Given the description of an element on the screen output the (x, y) to click on. 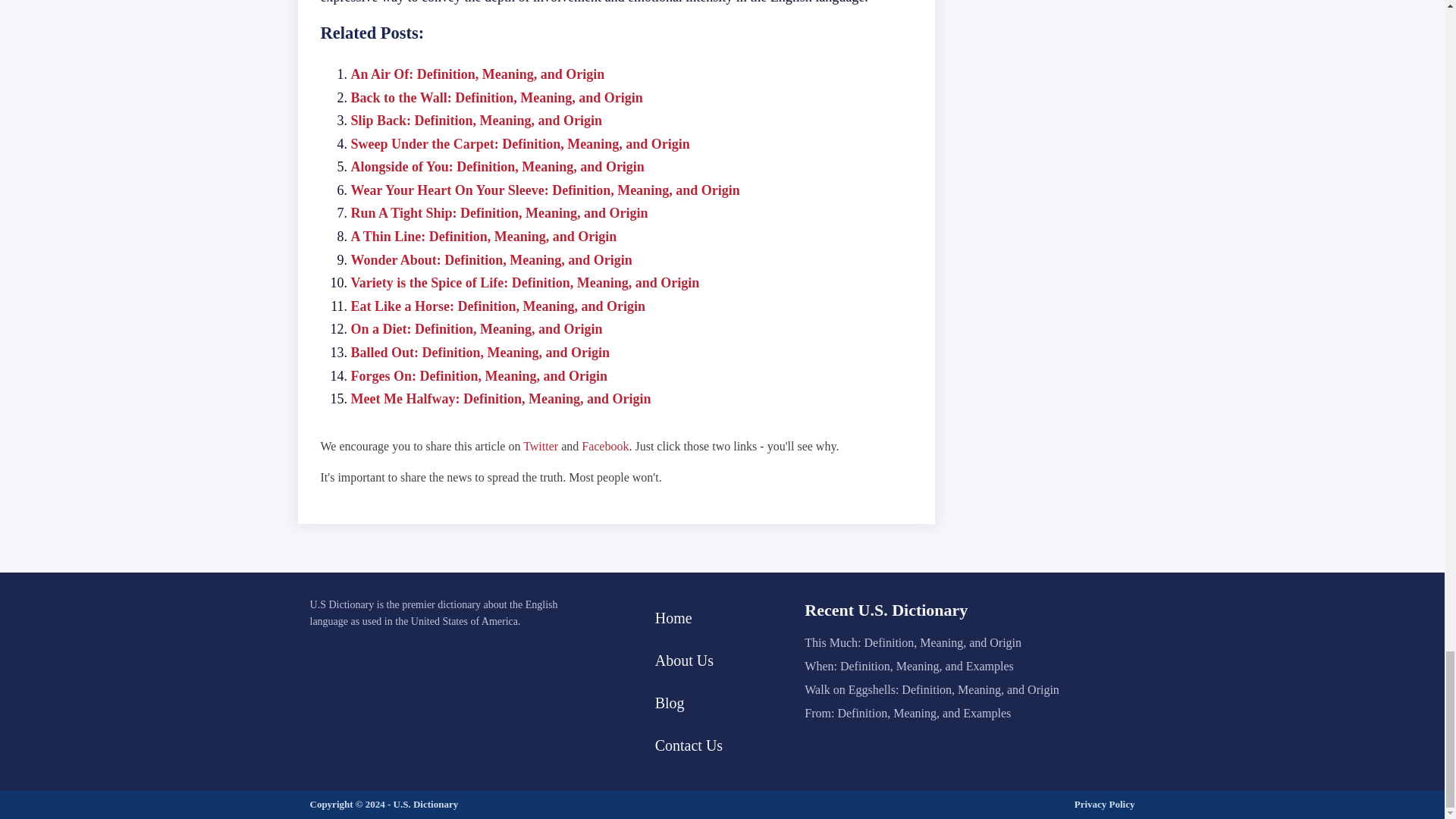
Sweep Under the Carpet: Definition, Meaning, and Origin (519, 143)
Back to the Wall: Definition, Meaning, and Origin (496, 96)
On a Diet: Definition, Meaning, and Origin (476, 328)
An Air Of: Definition, Meaning, and Origin (477, 73)
Alongside of You: Definition, Meaning, and Origin (496, 166)
Facebook (604, 445)
Back to the Wall: Definition, Meaning, and Origin (496, 96)
Sweep Under the Carpet: Definition, Meaning, and Origin (519, 143)
On a Diet: Definition, Meaning, and Origin (476, 328)
Slip Back: Definition, Meaning, and Origin (476, 120)
Alongside of You: Definition, Meaning, and Origin (496, 166)
Balled Out: Definition, Meaning, and Origin (480, 352)
Run A Tight Ship: Definition, Meaning, and Origin (498, 212)
Meet Me Halfway: Definition, Meaning, and Origin (500, 398)
